Given the description of an element on the screen output the (x, y) to click on. 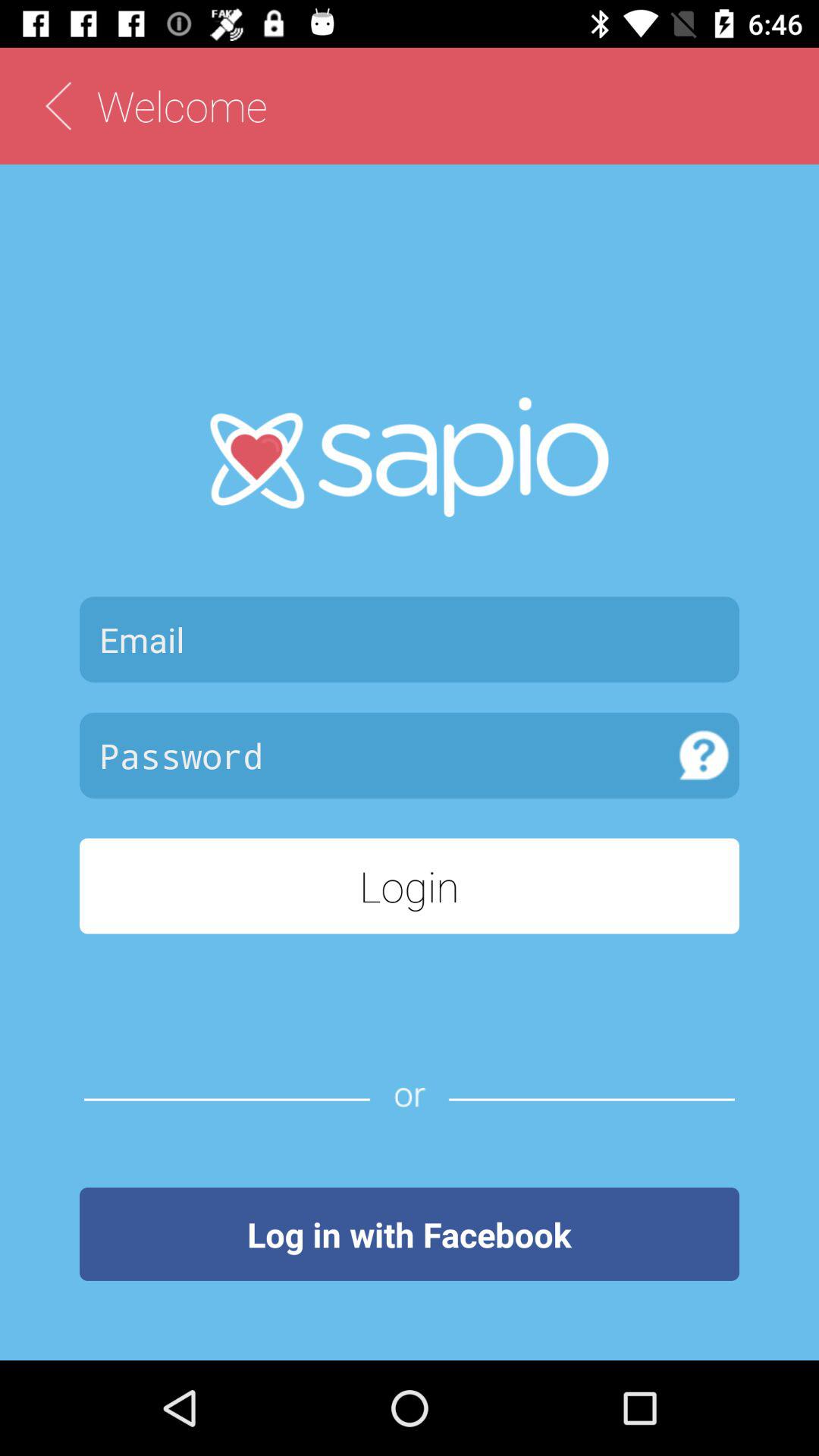
back page (57, 105)
